Given the description of an element on the screen output the (x, y) to click on. 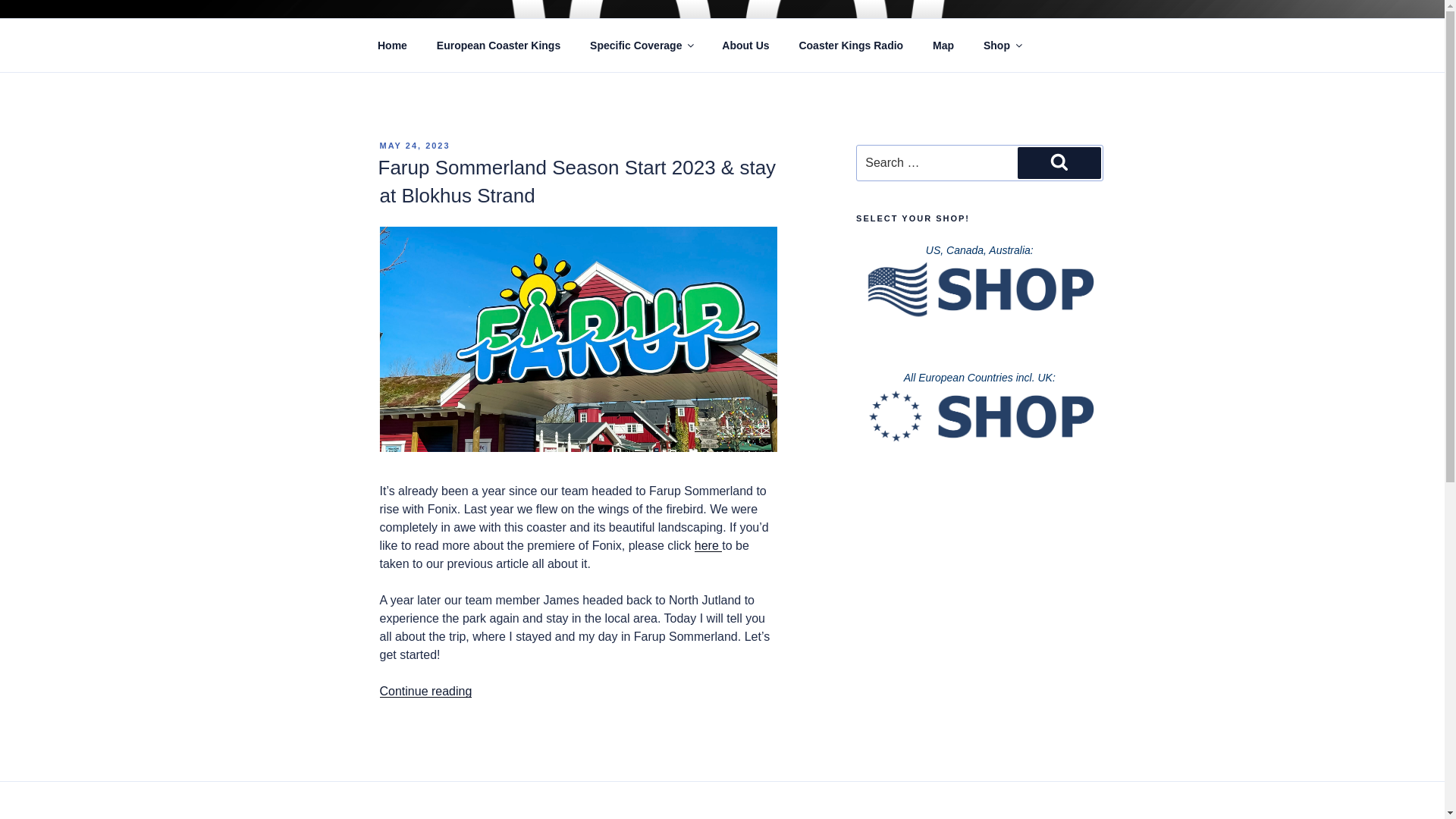
Shop (1001, 45)
COASTER KINGS (506, 52)
here (708, 545)
MAY 24, 2023 (413, 144)
Home (392, 45)
About Us (746, 45)
Specific Coverage (641, 45)
Map (944, 45)
Coaster Kings Radio (851, 45)
Search (1058, 163)
European Coaster Kings (498, 45)
